Given the description of an element on the screen output the (x, y) to click on. 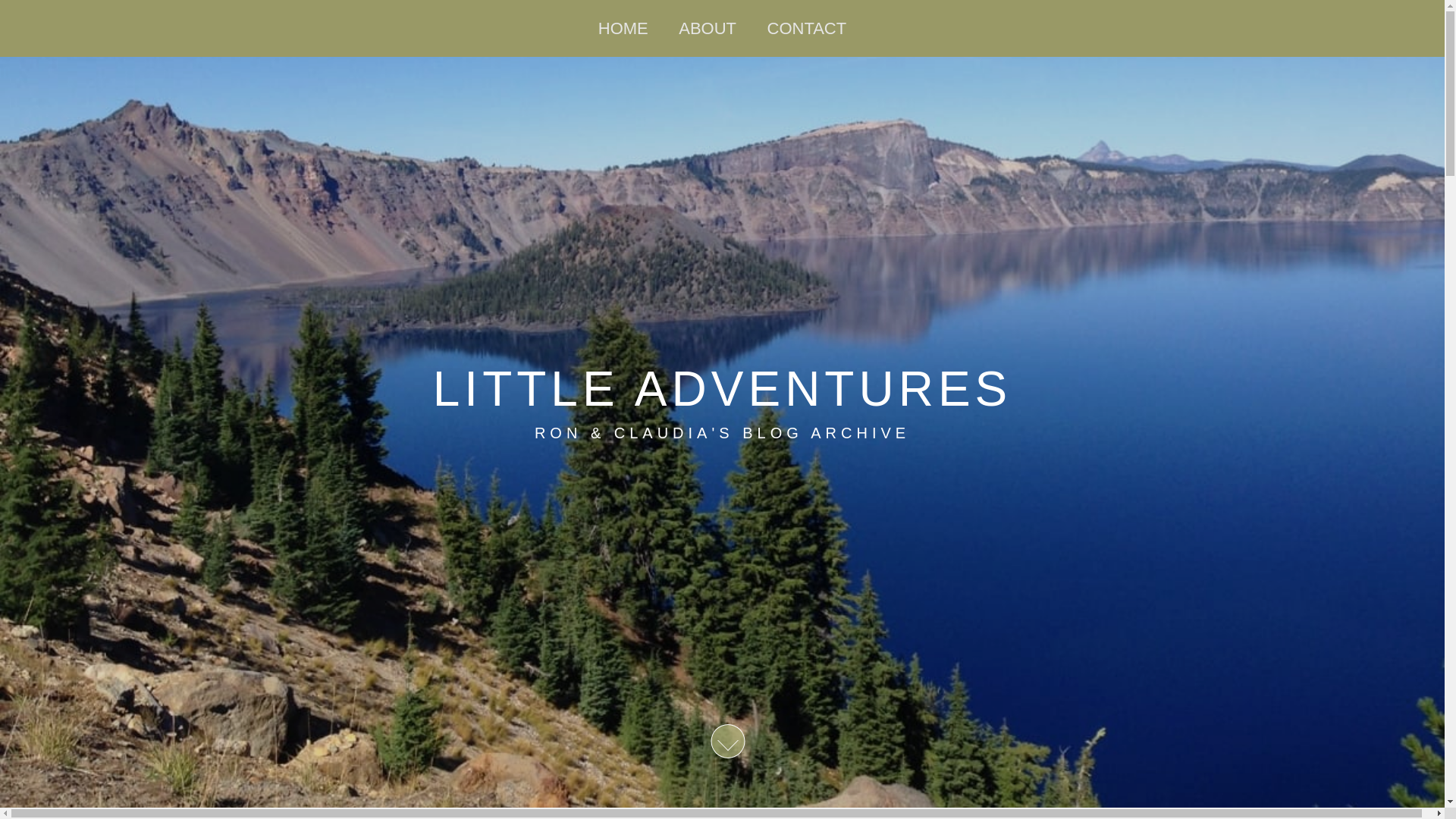
ABOUT (707, 28)
HOME (623, 28)
CONTACT (806, 28)
